Given the description of an element on the screen output the (x, y) to click on. 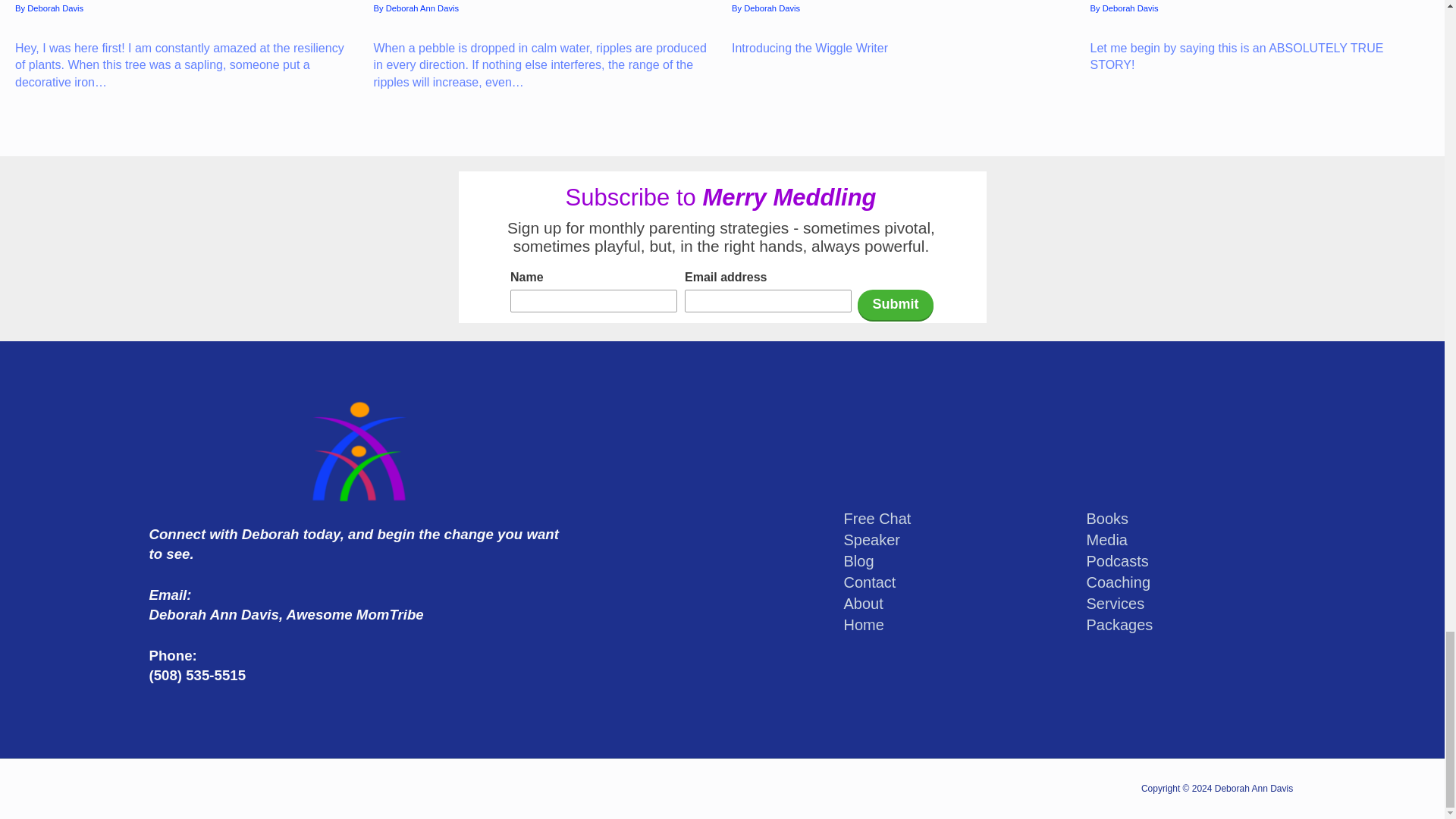
View all posts by Deborah Davis (771, 8)
View all posts by Deborah Ann Davis (421, 8)
View all posts by Deborah Davis (1130, 8)
View all posts by Deborah Davis (54, 8)
